Given the description of an element on the screen output the (x, y) to click on. 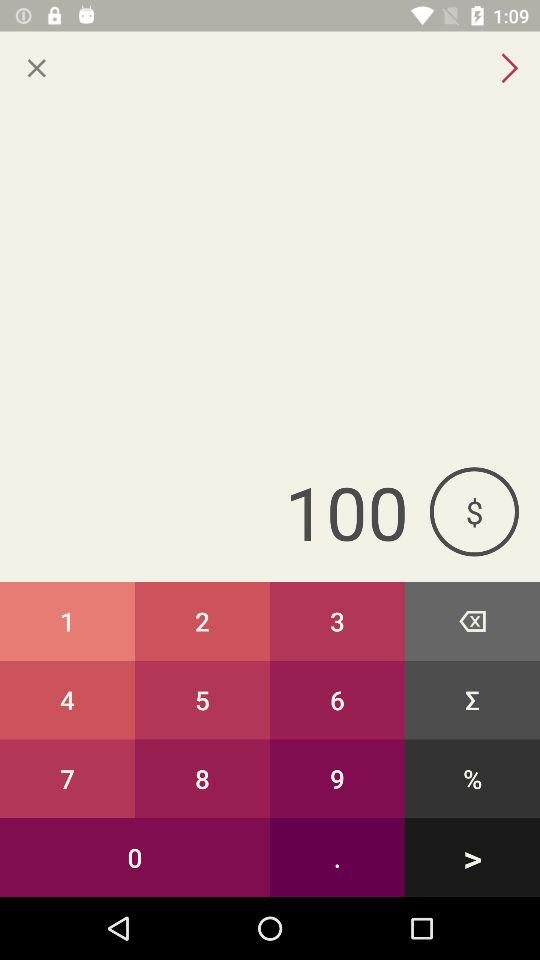
tap the item above the 7 item (67, 699)
